Given the description of an element on the screen output the (x, y) to click on. 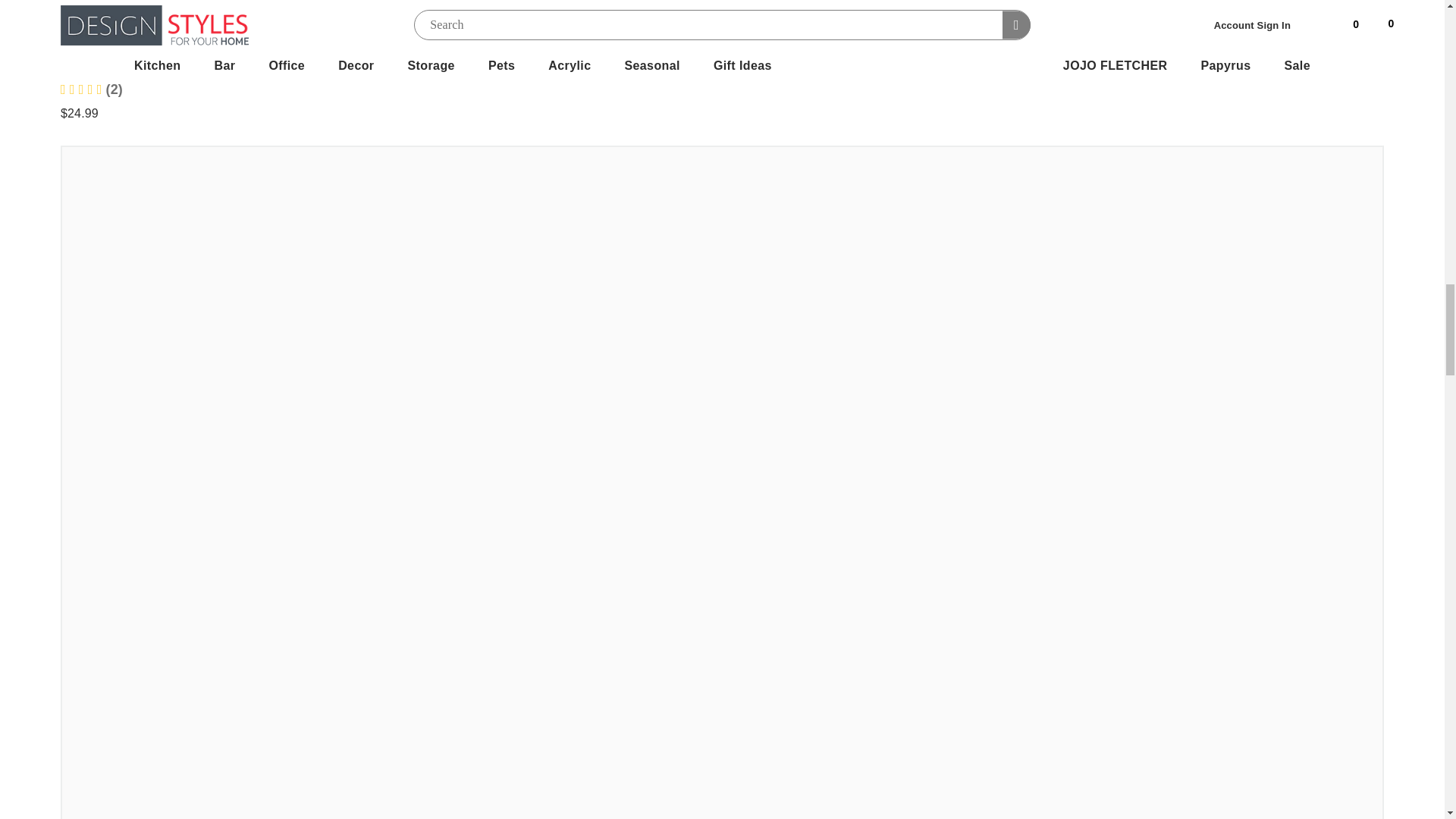
Rae Dunn "Love" Plush Gnome with Heart (200, 68)
